Given the description of an element on the screen output the (x, y) to click on. 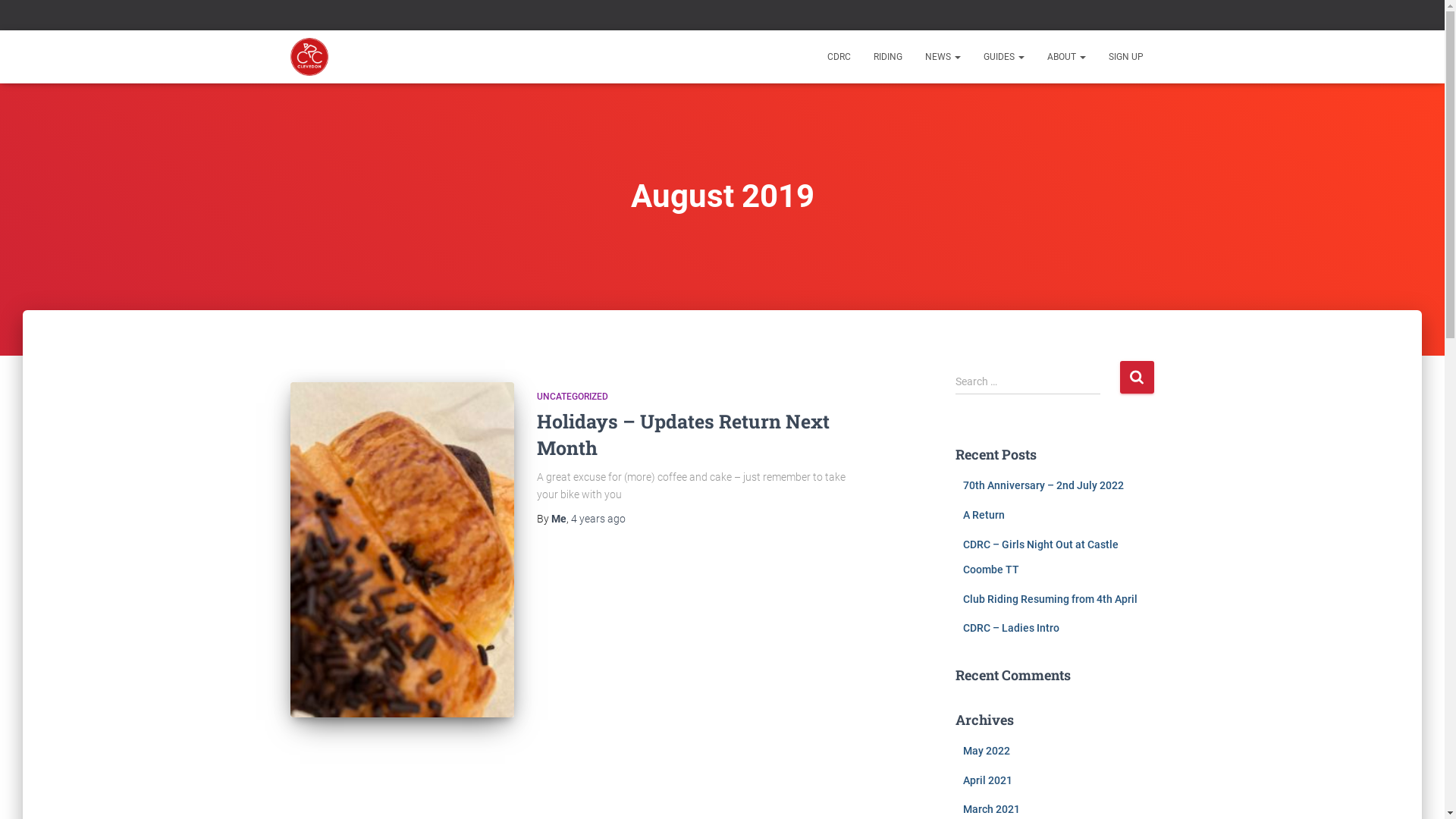
May 2022 Element type: text (986, 750)
ABOUT Element type: text (1066, 56)
A Return Element type: text (983, 514)
CDRC Element type: hover (309, 56)
Search Element type: text (1136, 376)
NEWS Element type: text (942, 56)
CDRC Element type: text (838, 56)
Me Element type: text (557, 518)
Club Riding Resuming from 4th April Element type: text (1050, 599)
RIDING Element type: text (887, 56)
4 years ago Element type: text (597, 518)
GUIDES Element type: text (1003, 56)
March 2021 Element type: text (991, 809)
UNCATEGORIZED Element type: text (572, 396)
SIGN UP Element type: text (1125, 56)
April 2021 Element type: text (987, 780)
